Given the description of an element on the screen output the (x, y) to click on. 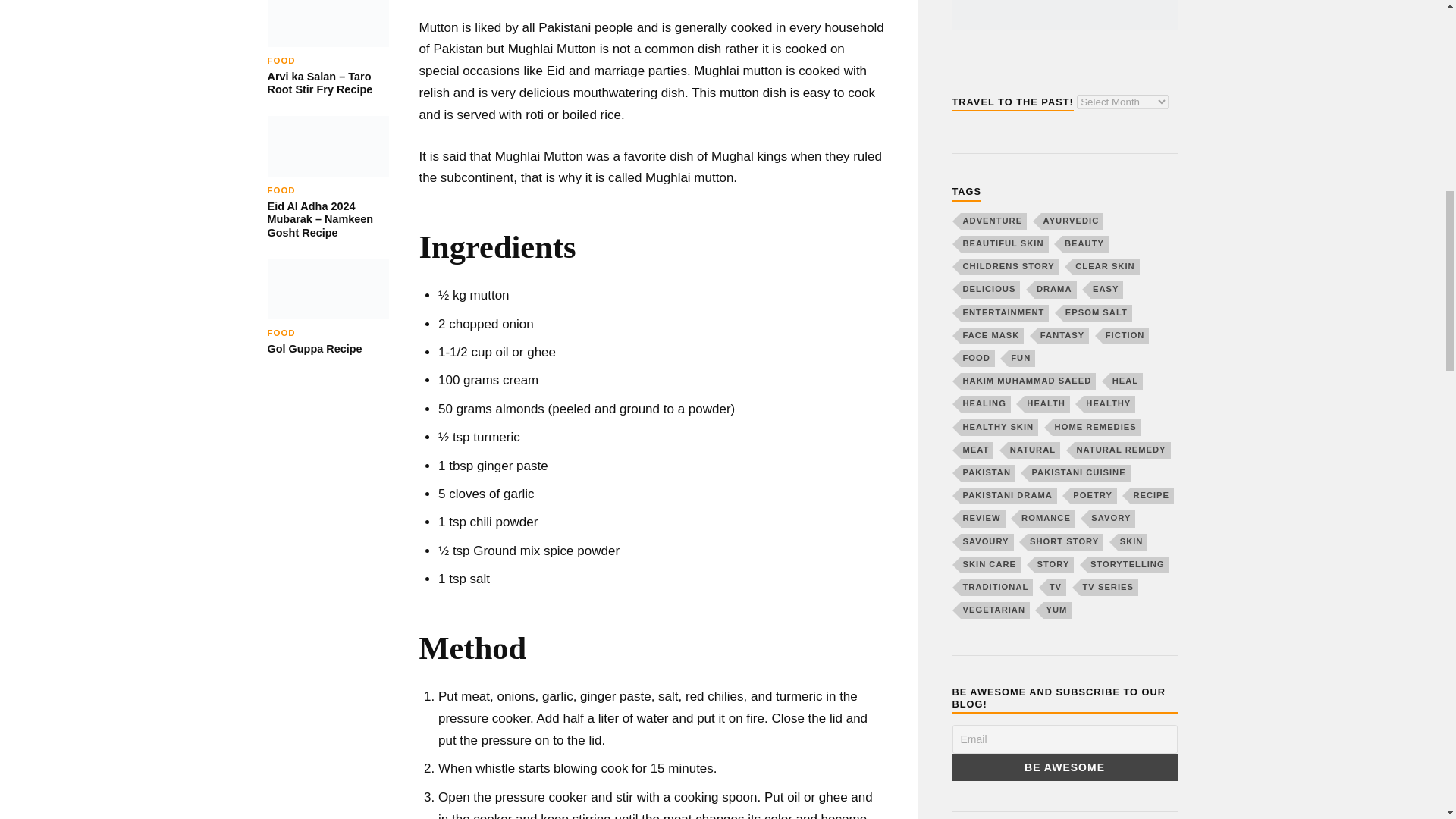
Be Awesome (1064, 767)
